Given the description of an element on the screen output the (x, y) to click on. 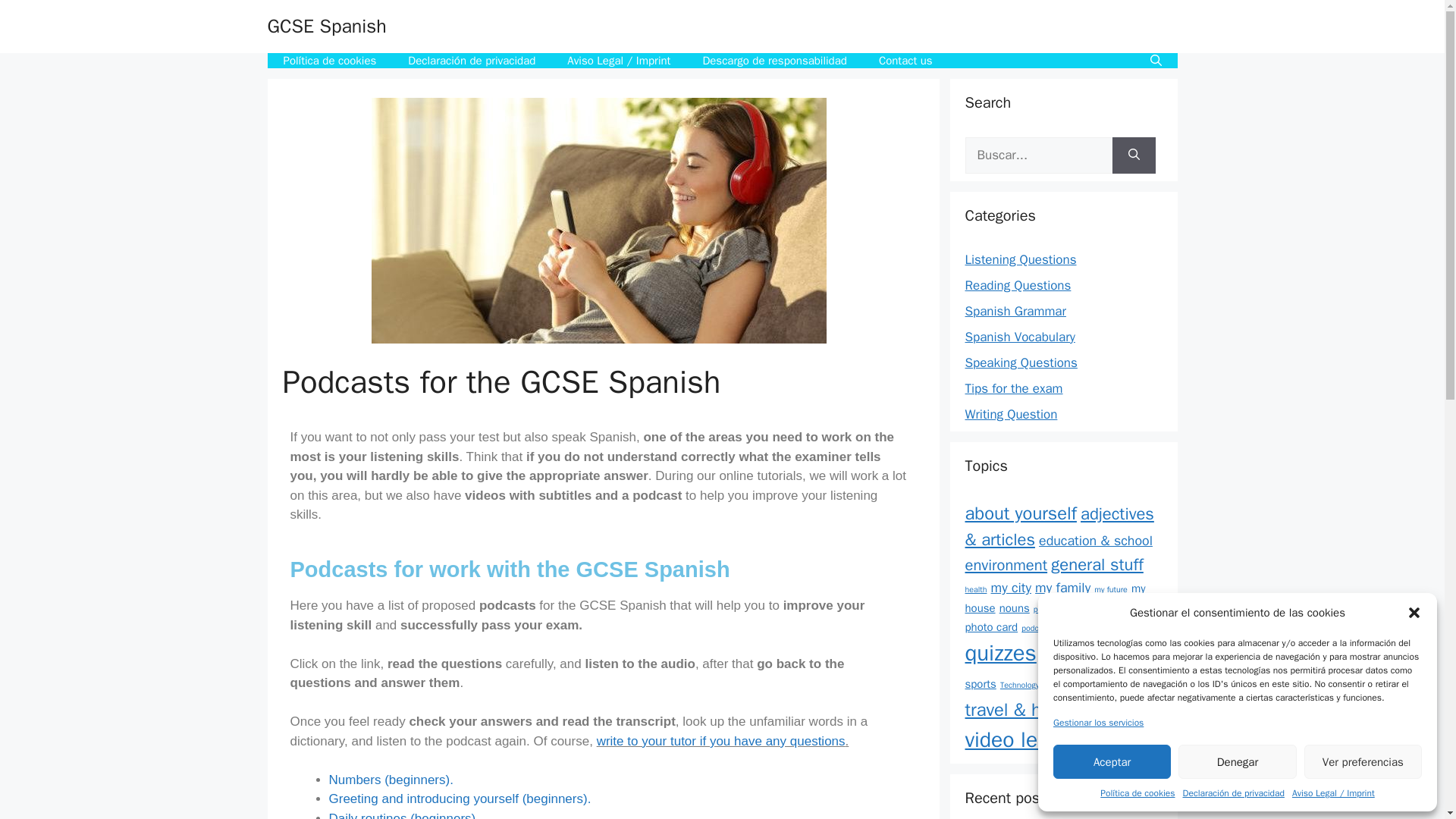
Descargo de responsabilidad (774, 60)
Buscar: (1037, 155)
write to your tutor if you have any questions (720, 740)
Ver preferencias (1363, 761)
GCSE Spanish (325, 25)
Gestionar los servicios (1097, 722)
Aceptar (1111, 761)
Contact us (906, 60)
Denegar (1236, 761)
